Given the description of an element on the screen output the (x, y) to click on. 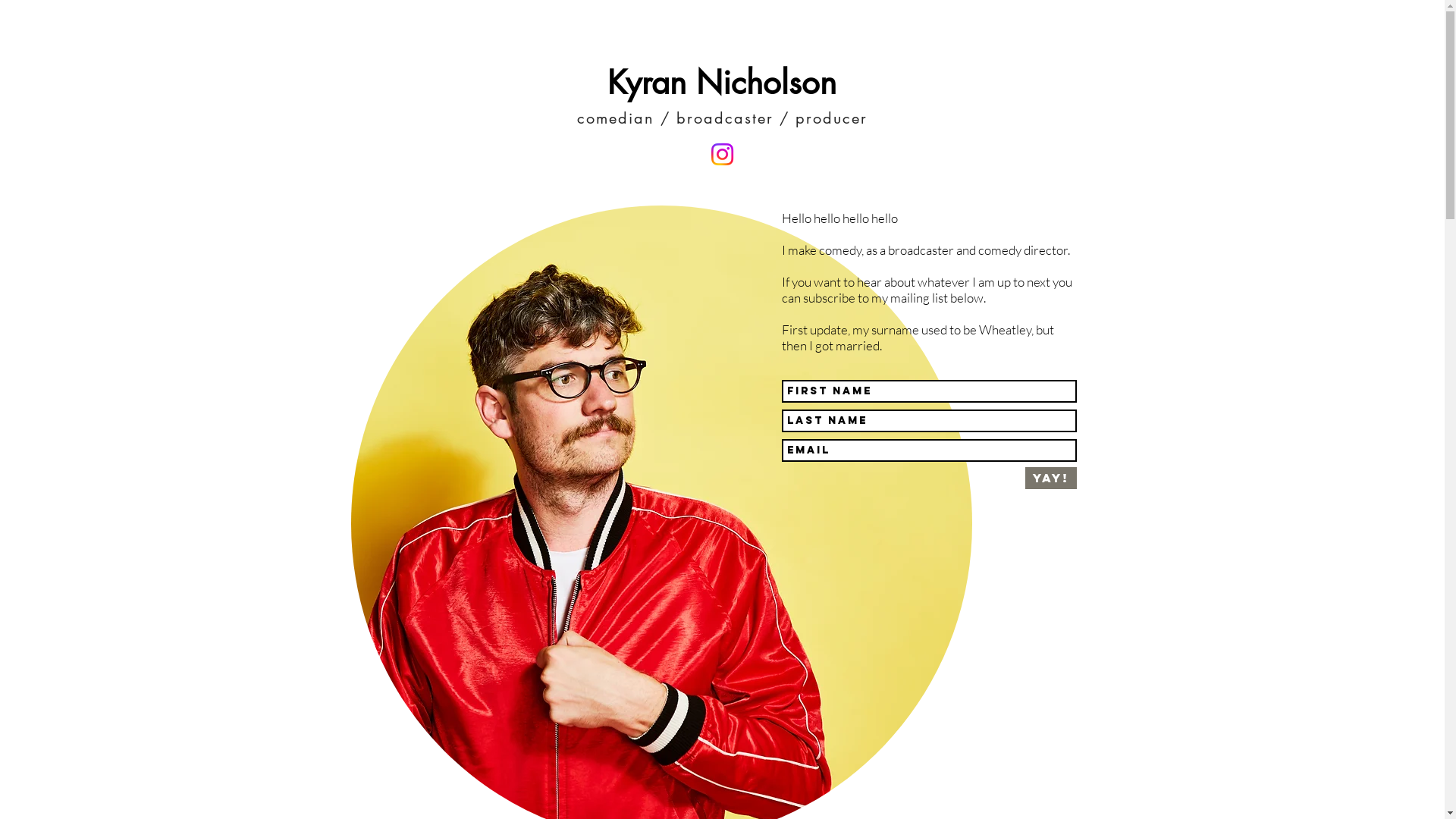
Yay! Element type: text (1050, 478)
